Given the description of an element on the screen output the (x, y) to click on. 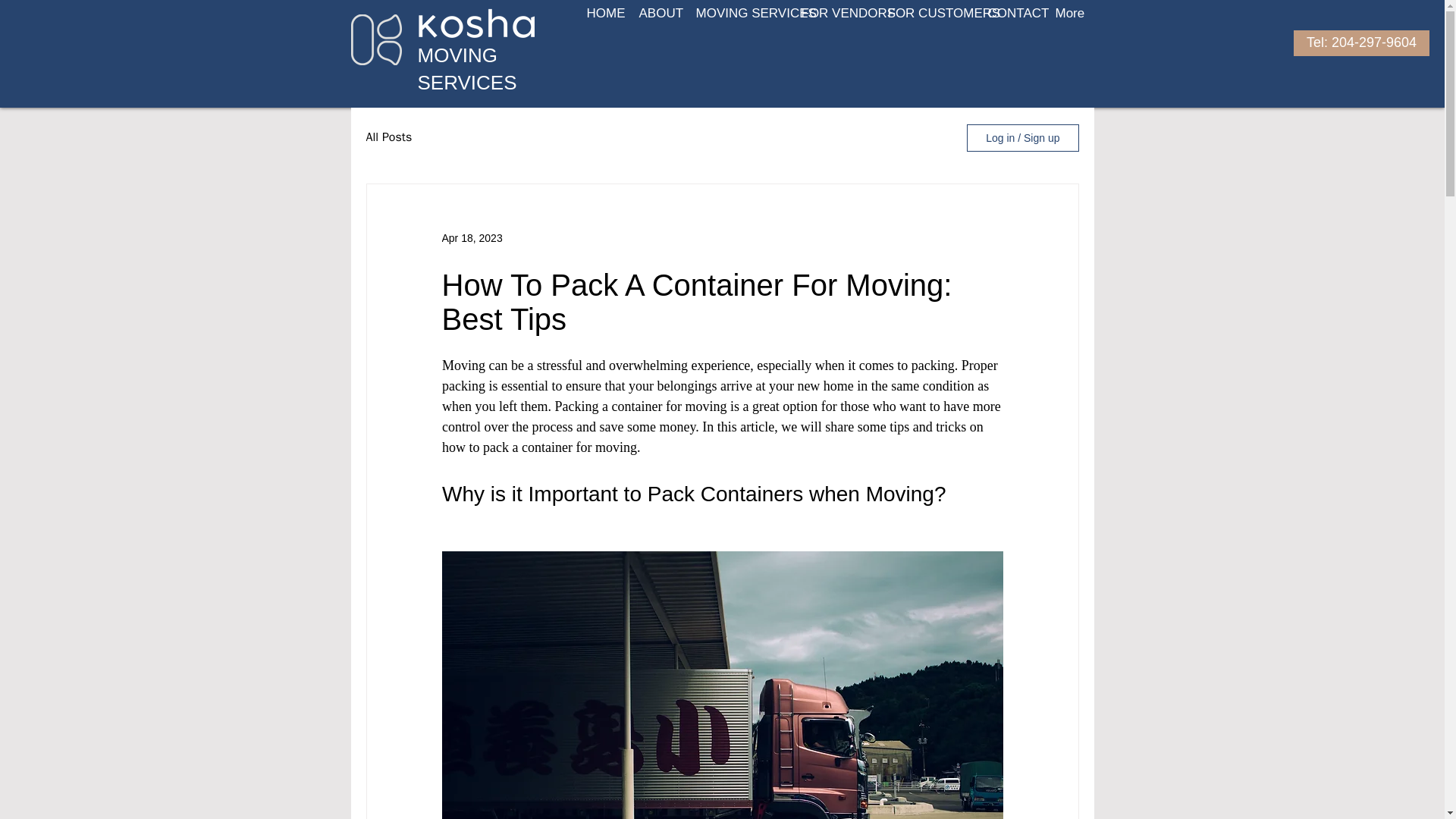
All Posts (388, 137)
ABOUT (655, 13)
FOR VENDORS (833, 13)
HOME (601, 13)
Tel: 204-297-9604 (1361, 43)
Apr 18, 2023 (471, 237)
CONTACT (1009, 13)
FOR CUSTOMERS (926, 13)
